Given the description of an element on the screen output the (x, y) to click on. 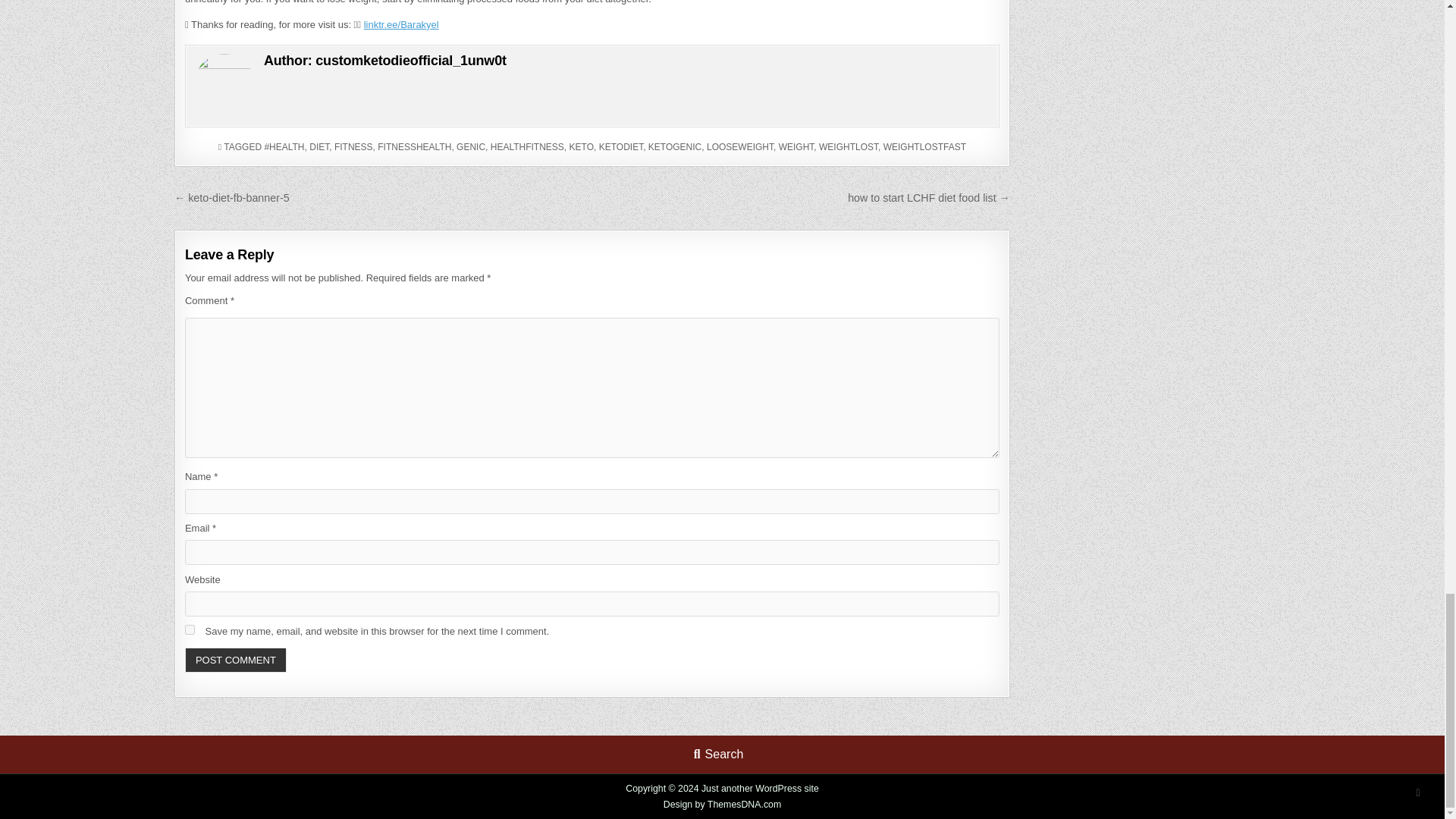
yes (189, 629)
FITNESSHEALTH (414, 146)
GENIC (470, 146)
LOOSEWEIGHT (739, 146)
KETODIET (620, 146)
KETOGENIC (674, 146)
Search (718, 753)
DIET (318, 146)
WEIGHT (795, 146)
FITNESS (353, 146)
